Given the description of an element on the screen output the (x, y) to click on. 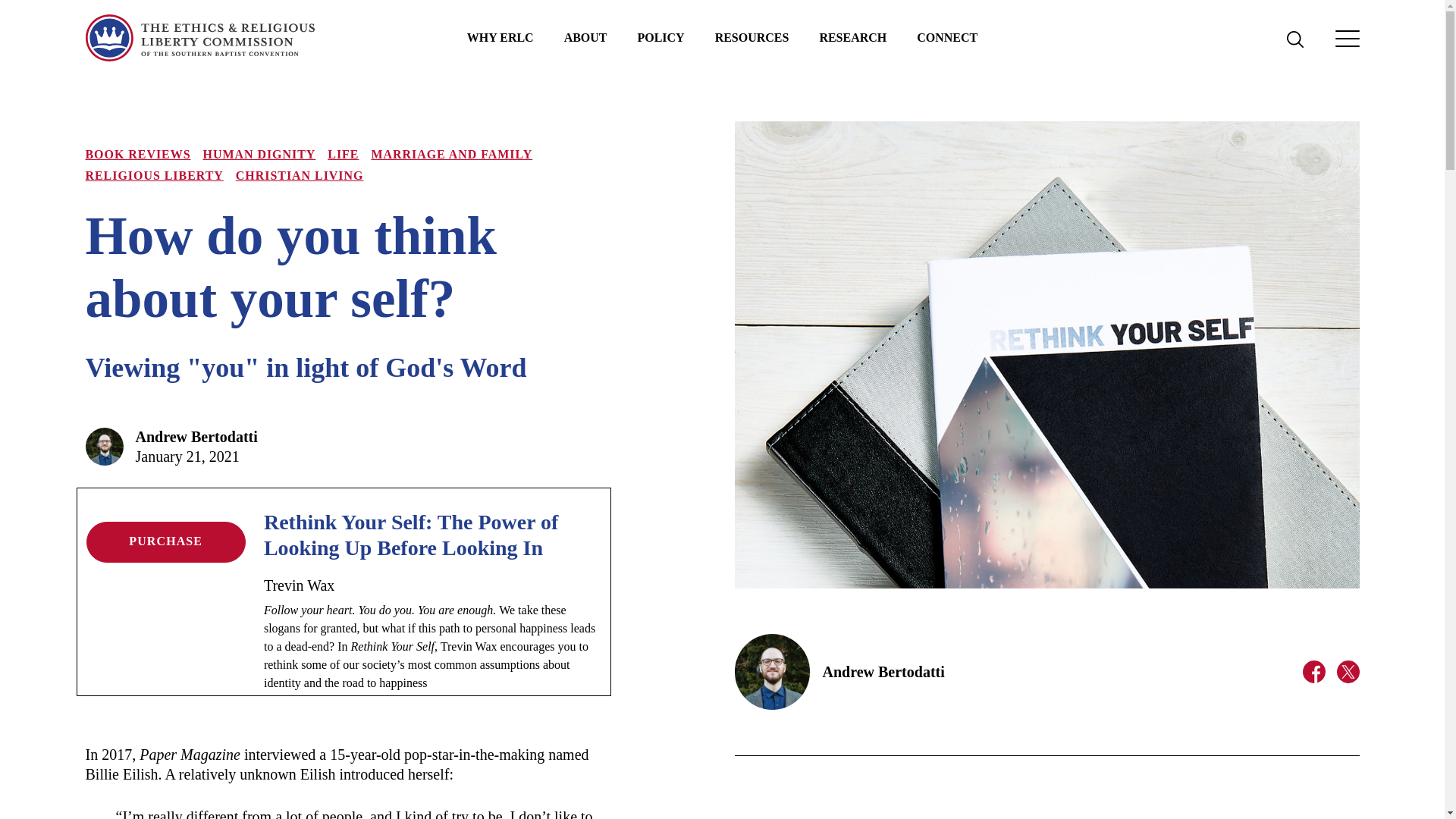
RELIGIOUS LIBERTY (153, 174)
RESOURCES (751, 38)
MARRIAGE AND FAMILY (451, 154)
About (585, 38)
ABOUT (585, 38)
HUMAN DIGNITY (258, 154)
PURCHASE (165, 541)
Connect (946, 38)
Resources (751, 38)
RESEARCH (852, 38)
Policy (660, 38)
CONNECT (946, 38)
Andrew Bertodatti (196, 436)
Why ERLC (500, 38)
LIFE (342, 154)
